Given the description of an element on the screen output the (x, y) to click on. 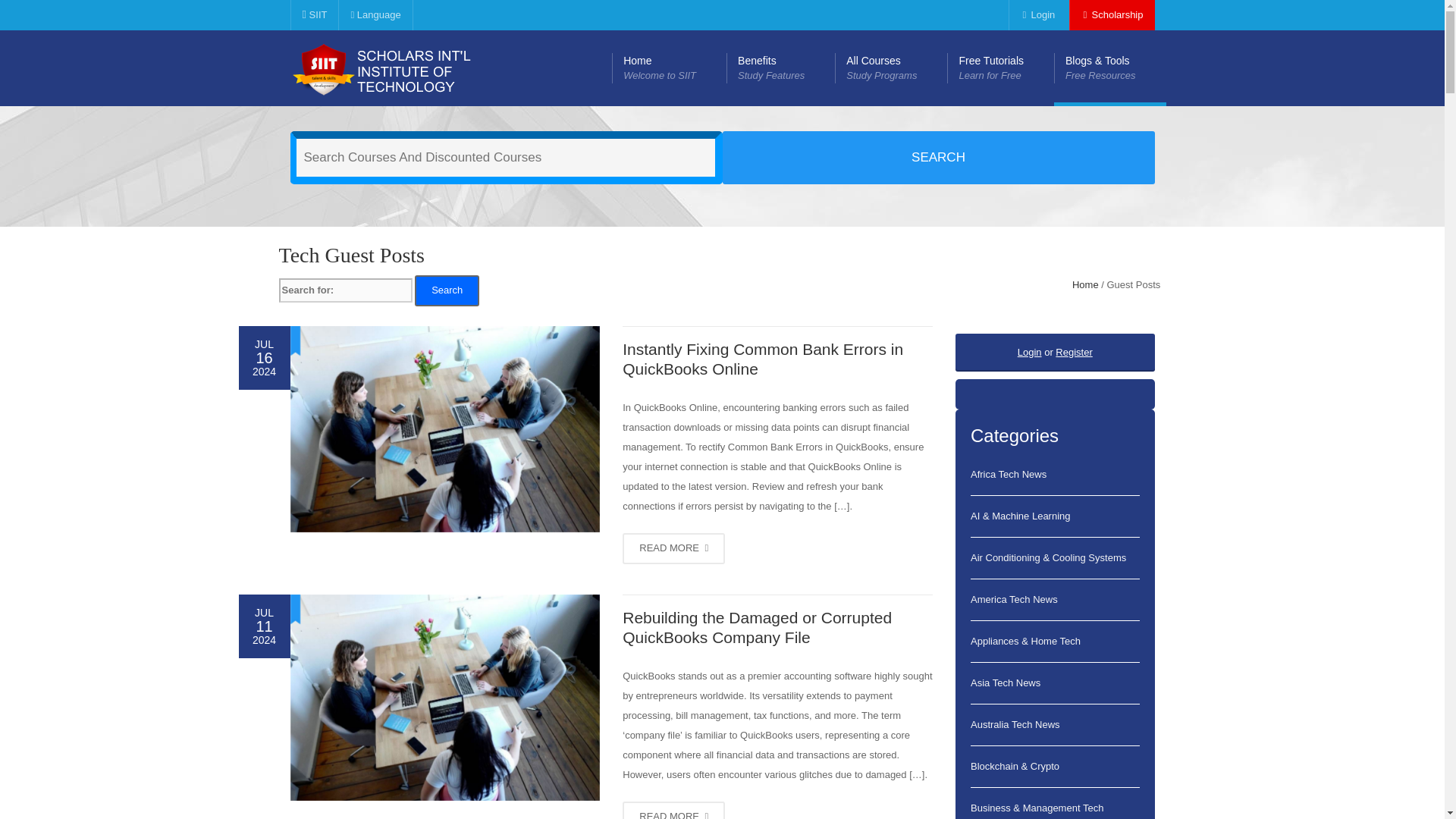
Rebuilding the Damaged or Corrupted QuickBooks Company File (444, 697)
Login (890, 68)
SIIT - Scholars International Institute Of Technology (1037, 15)
Instantly Fixing Common Bank Errors in QuickBooks Online (402, 67)
Language (444, 429)
Instantly Fixing Common Bank Errors in QuickBooks Online (374, 15)
SIIT (674, 548)
2024 IT Scholarship (668, 68)
Rebuilding the Damaged or Corrupted QuickBooks Company File (313, 15)
Portal Login (1111, 15)
Scholarship (757, 627)
Instantly Fixing Common Bank Errors in QuickBooks Online (1037, 15)
